Given the description of an element on the screen output the (x, y) to click on. 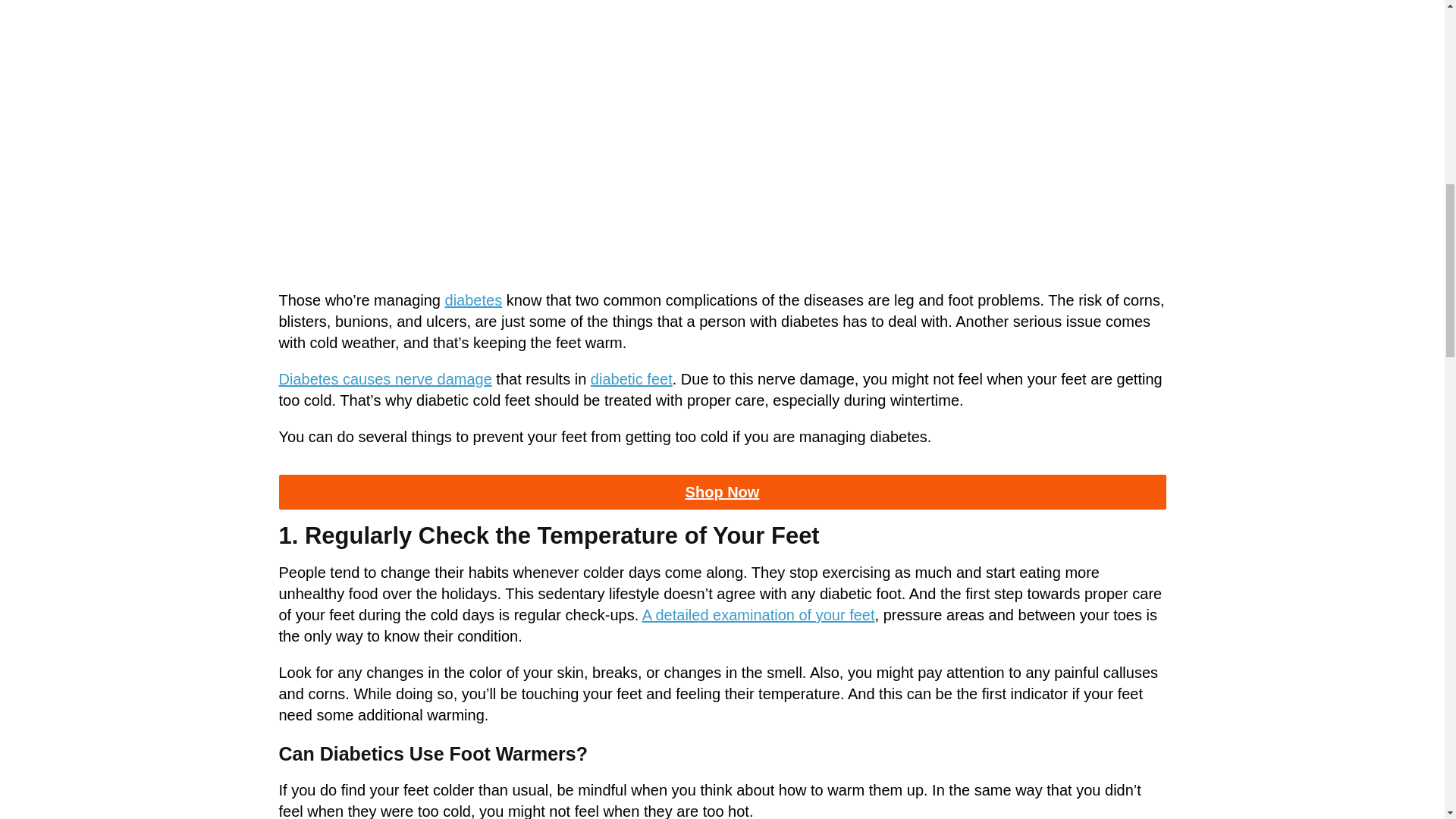
Understanding peripheral neuropathy (385, 379)
A detailed examination of your feet (758, 614)
Information on diabetes (473, 299)
Our diabetic socks collections (722, 492)
Understanding diabetic foot (631, 379)
Shop Now (722, 492)
diabetes (473, 299)
Diabetic feet examination video (758, 614)
diabetic feet (631, 379)
Diabetes causes nerve damage (385, 379)
